Given the description of an element on the screen output the (x, y) to click on. 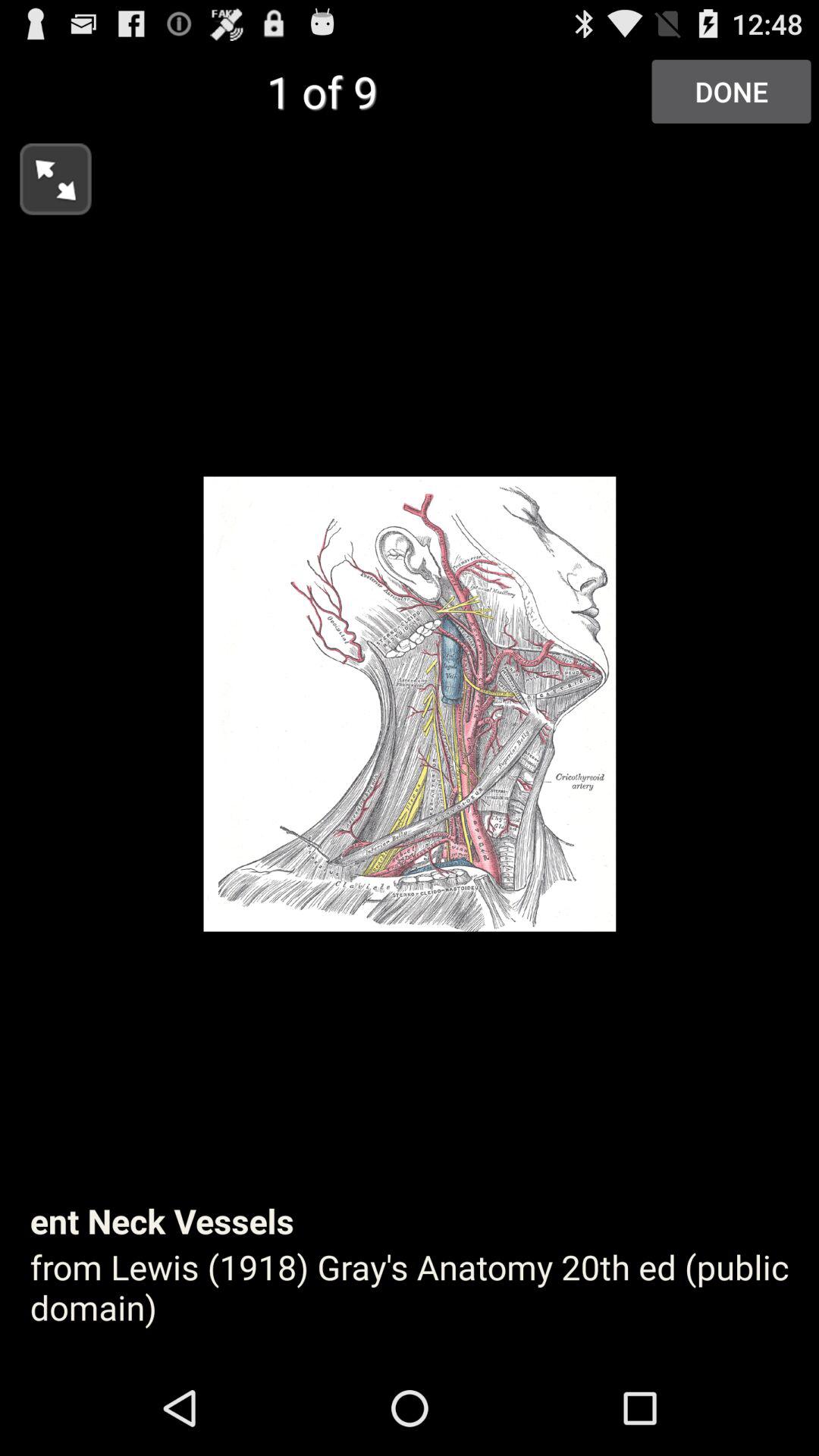
launch icon at the center (409, 703)
